Given the description of an element on the screen output the (x, y) to click on. 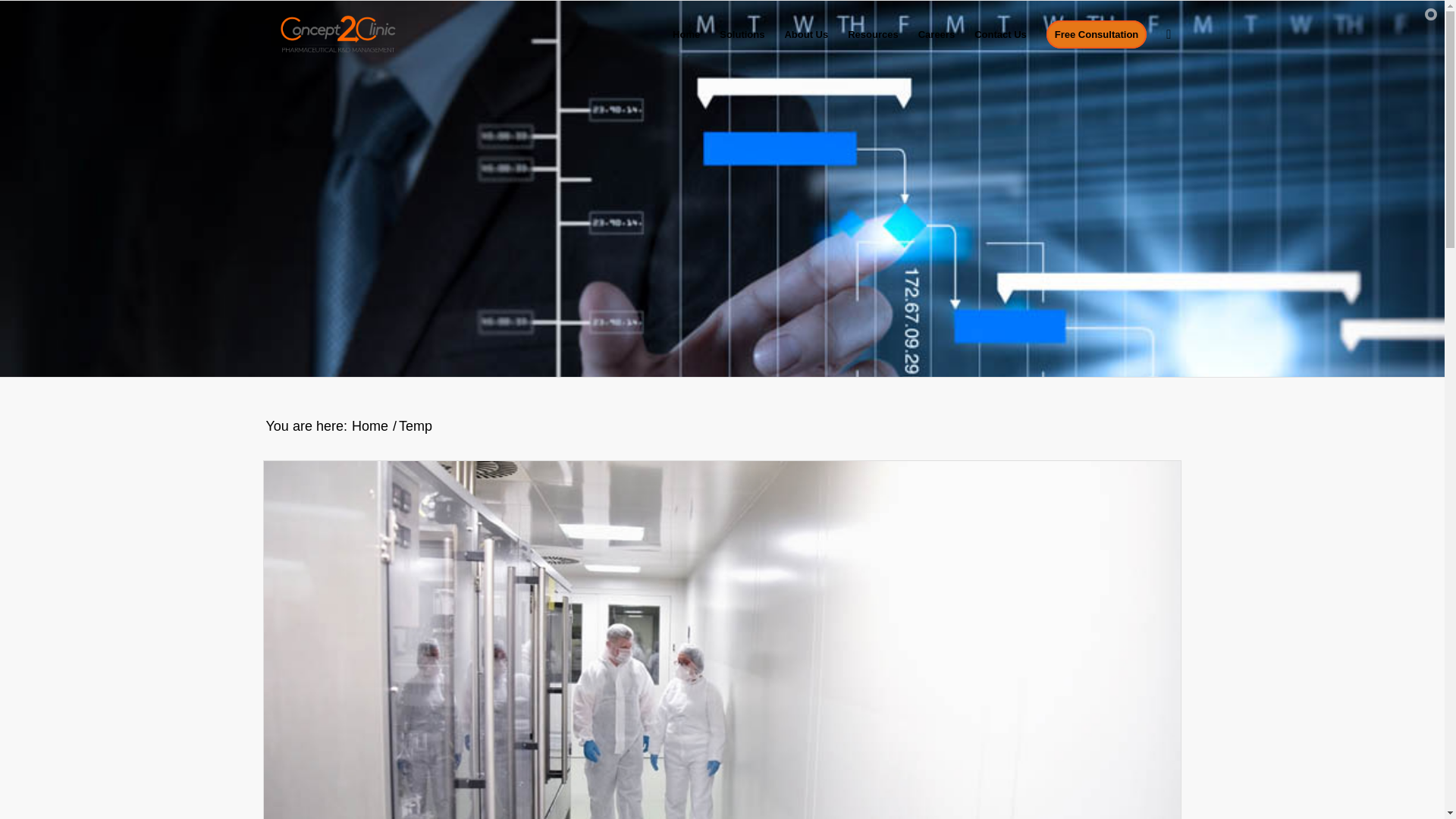
Resources (872, 34)
Concept 2 Clinic Inc. (369, 426)
About Us (806, 34)
Free Consultation (1096, 34)
Home (369, 426)
Solutions (742, 34)
Contact Us (999, 34)
